Given the description of an element on the screen output the (x, y) to click on. 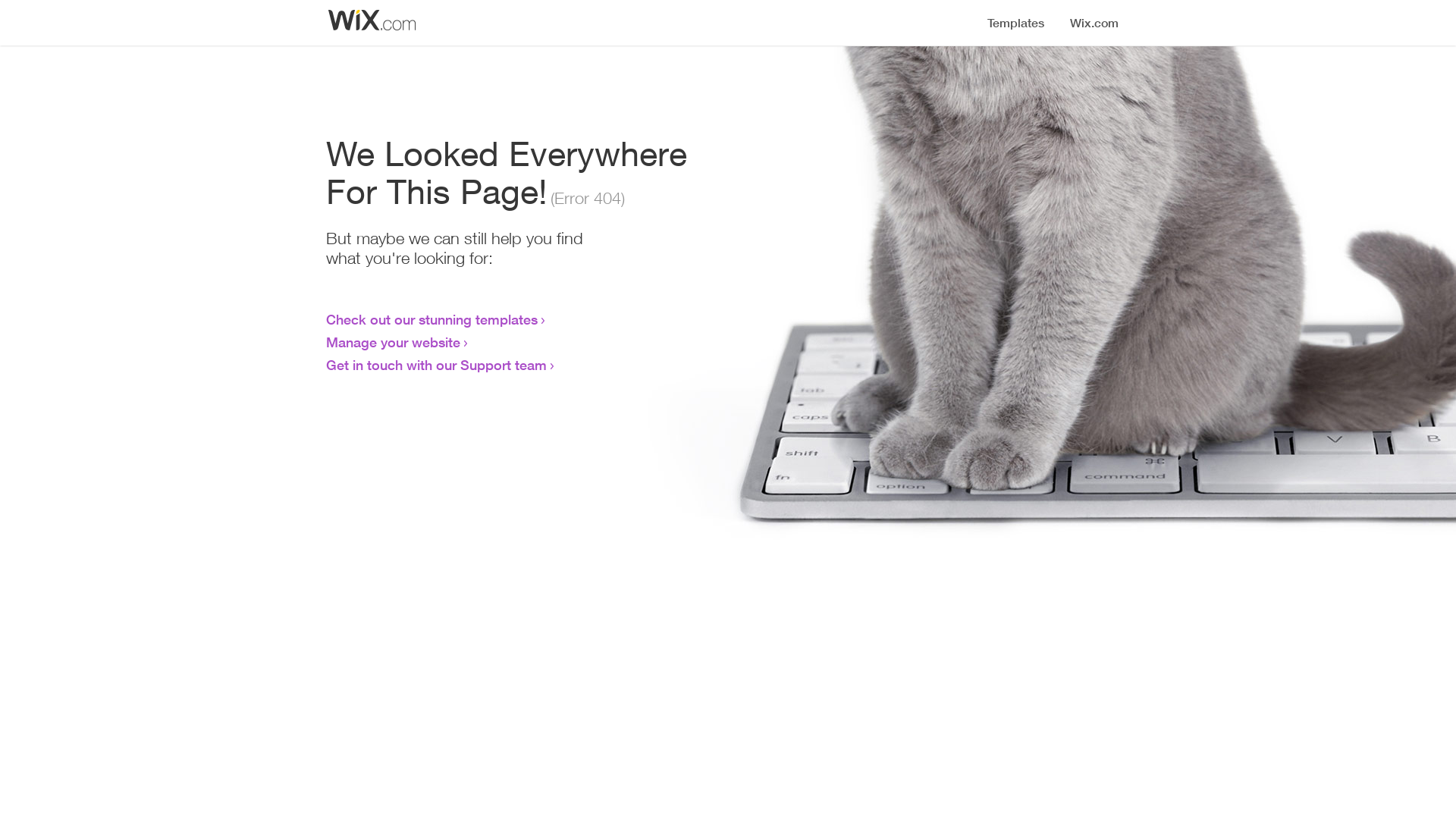
Check out our stunning templates Element type: text (431, 318)
Manage your website Element type: text (393, 341)
Get in touch with our Support team Element type: text (436, 364)
